Given the description of an element on the screen output the (x, y) to click on. 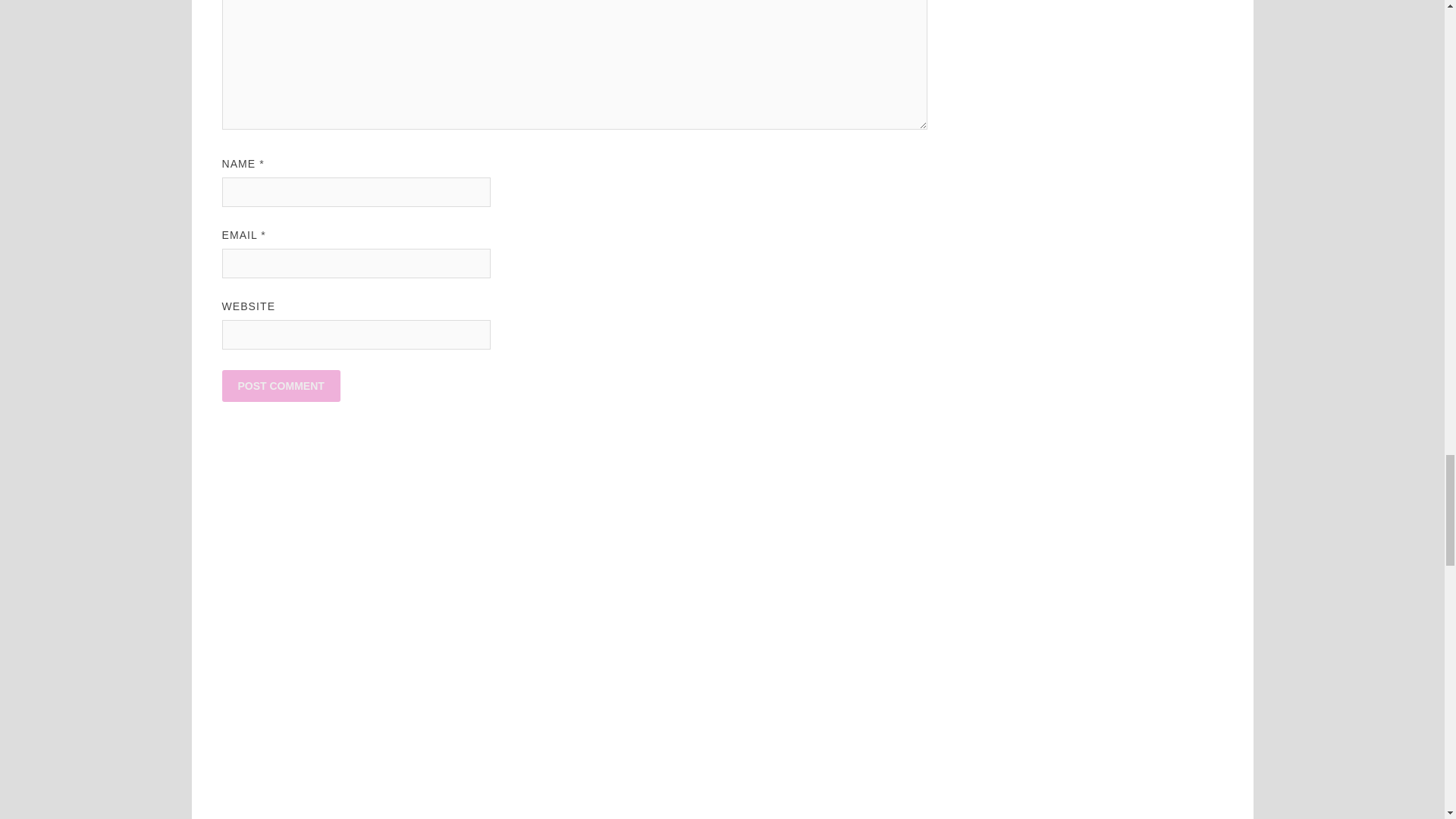
Post Comment (280, 386)
